Given the description of an element on the screen output the (x, y) to click on. 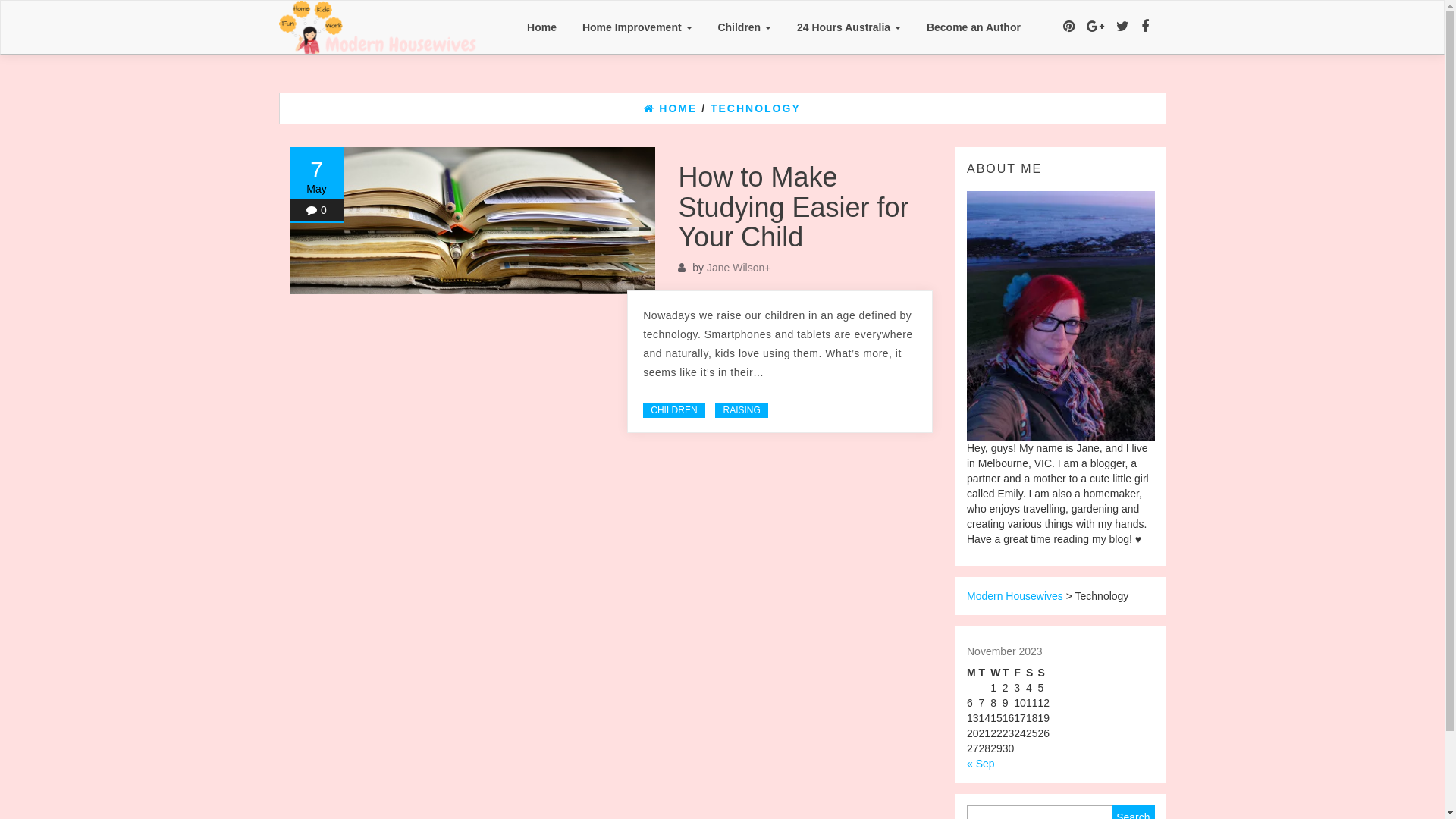
+ Element type: text (767, 267)
RAISING Element type: text (741, 409)
Home Improvement Element type: text (637, 26)
CHILDREN Element type: text (673, 409)
24 Hours Australia Element type: text (848, 26)
How to Make Studying Easier for Your Child Element type: hover (472, 220)
0 Element type: text (323, 209)
Modern Housewives Element type: text (1014, 595)
How to Make Studying Easier for Your Child Element type: text (792, 206)
Home Element type: text (541, 26)
Jane Wilson Element type: text (735, 267)
Children Element type: text (744, 26)
HOME Element type: text (669, 108)
TECHNOLOGY Element type: text (755, 108)
Become an Author Element type: text (973, 26)
